Given the description of an element on the screen output the (x, y) to click on. 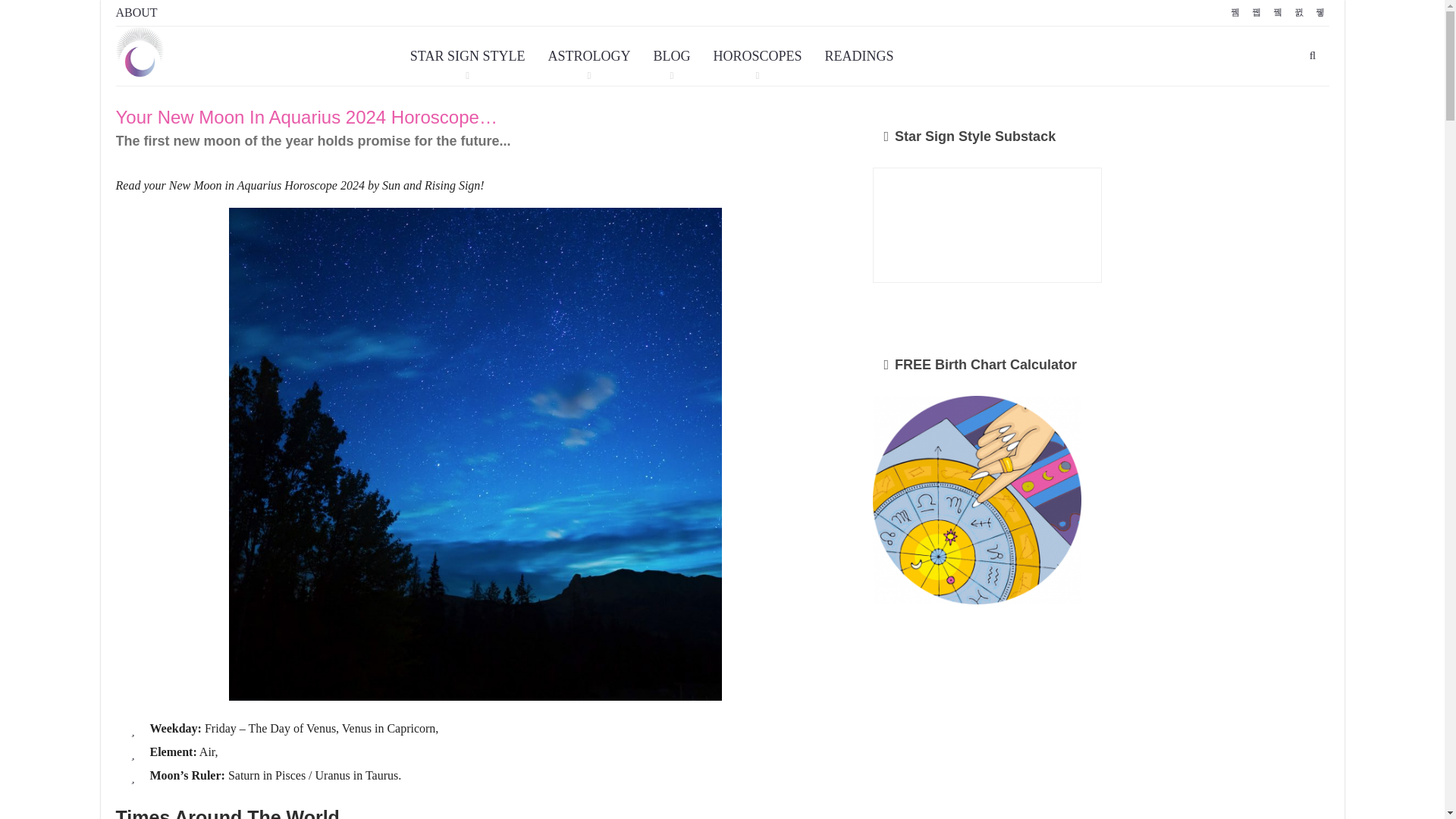
ASTROLOGY (588, 55)
READINGS (858, 55)
ABOUT (136, 11)
STAR SIGN STYLE (467, 55)
BLOG (671, 55)
HOROSCOPES (756, 55)
